Given the description of an element on the screen output the (x, y) to click on. 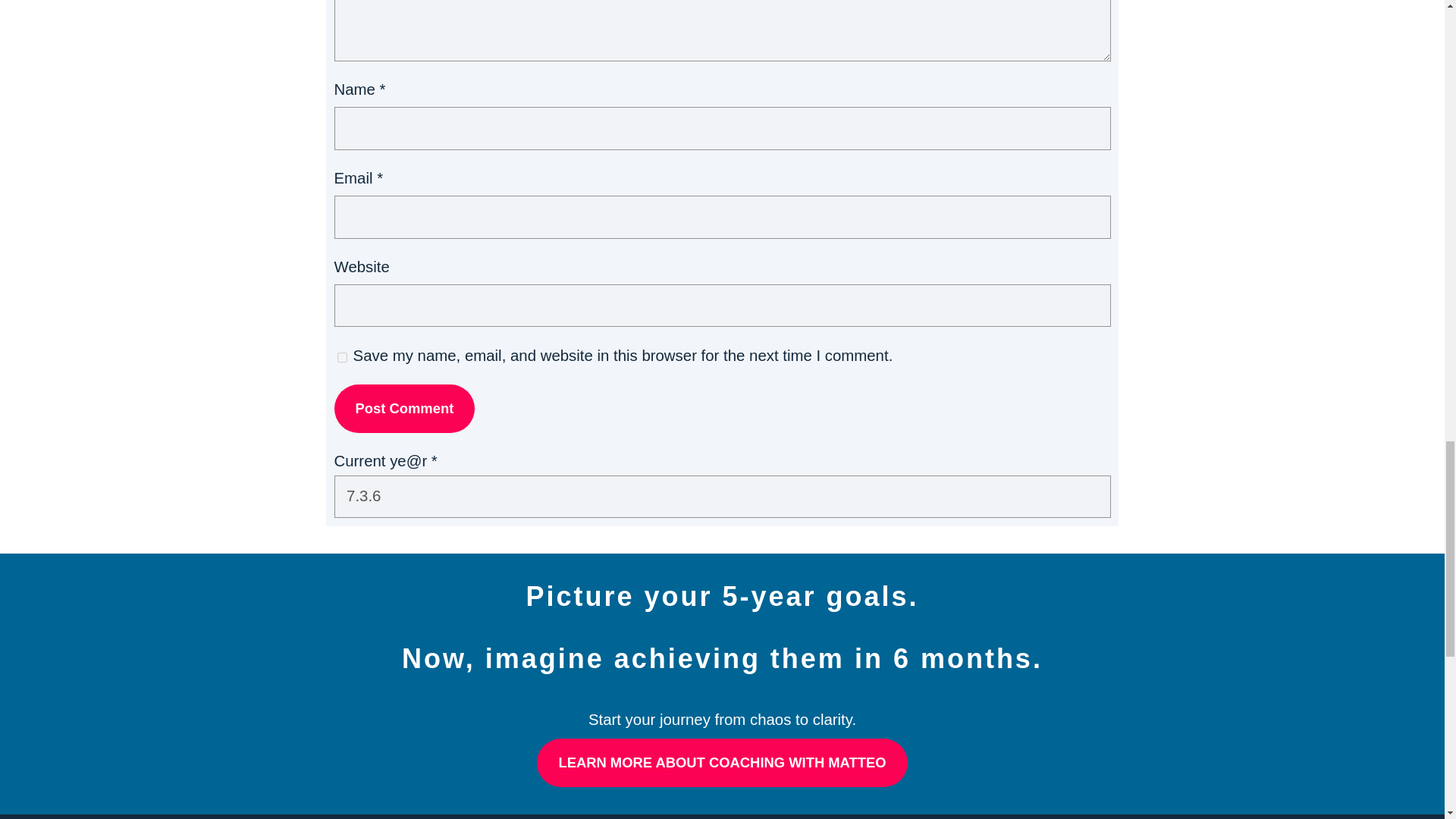
LEARN MORE ABOUT COACHING WITH MATTEO (722, 762)
Post Comment (403, 408)
7.3.6 (721, 496)
Post Comment (403, 408)
